Given the description of an element on the screen output the (x, y) to click on. 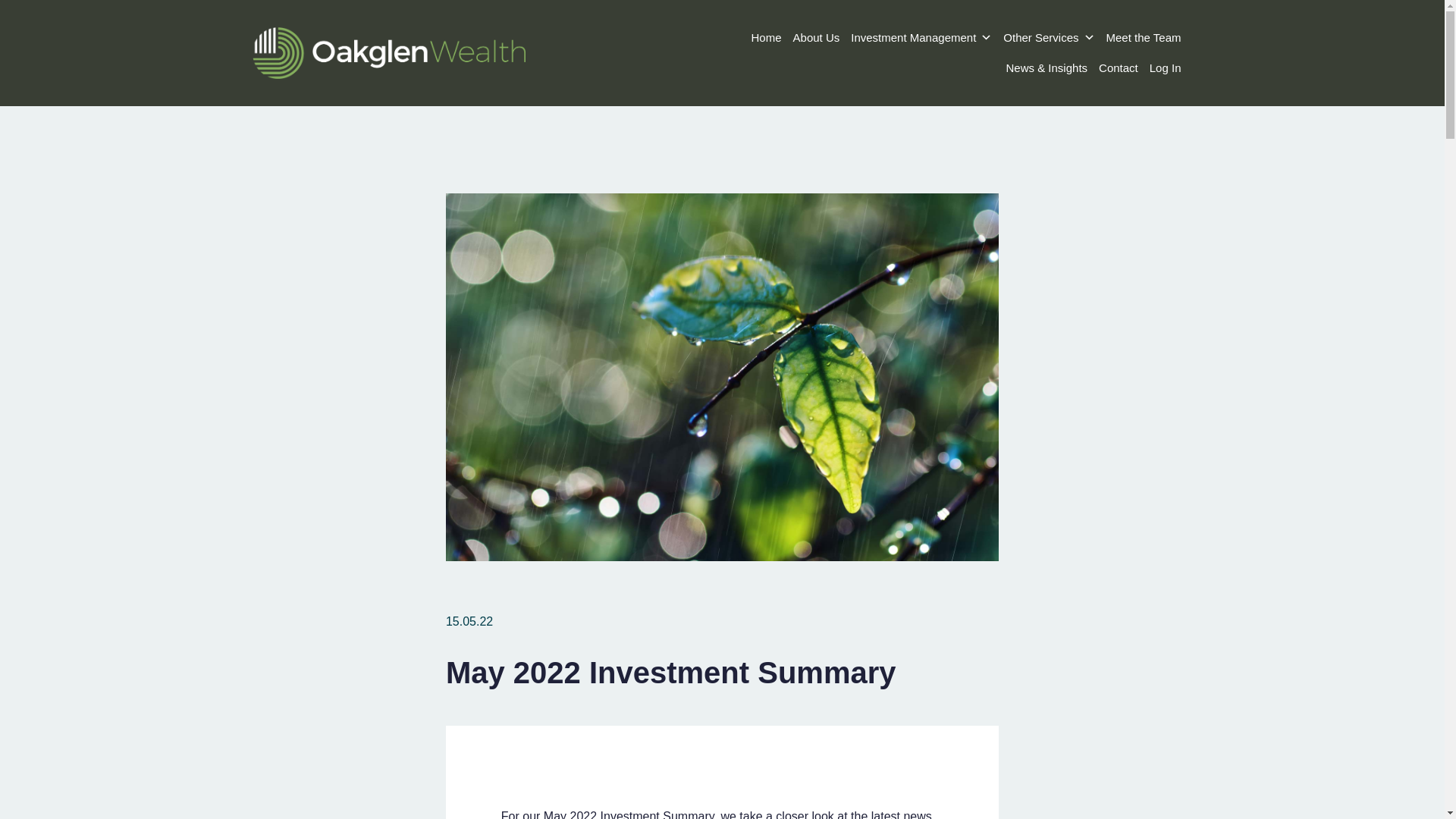
Home (766, 37)
Investment Management (920, 37)
Other Services (1048, 37)
Meet the Team (1143, 37)
Log In (1165, 68)
OakglenWealth Logo (388, 52)
Contact (1118, 68)
About Us (816, 37)
